Given the description of an element on the screen output the (x, y) to click on. 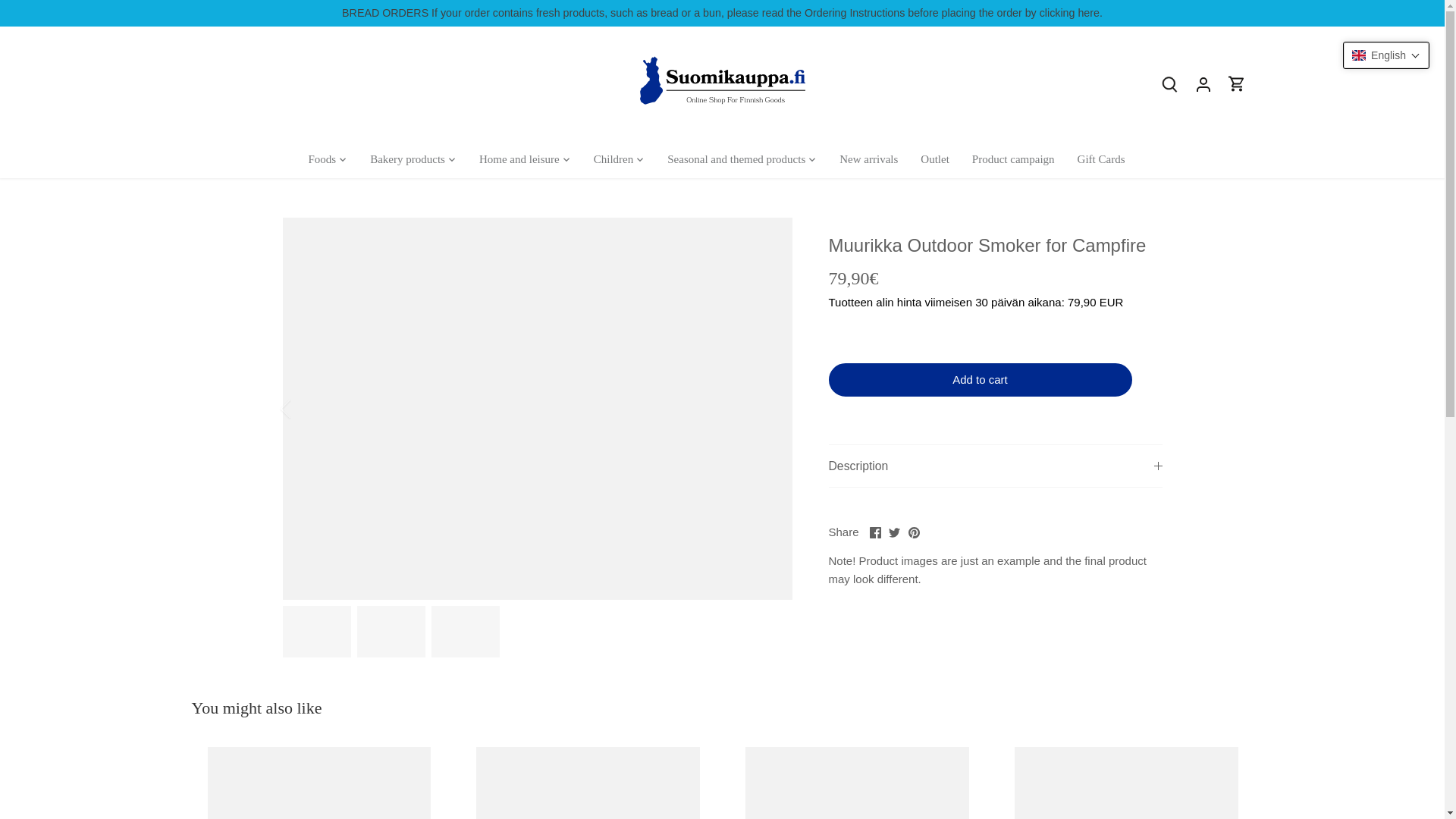
Home and leisure (518, 159)
Bakery products (407, 159)
Pinterest (914, 532)
Twitter (893, 532)
Facebook (874, 532)
Foods (327, 159)
